Given the description of an element on the screen output the (x, y) to click on. 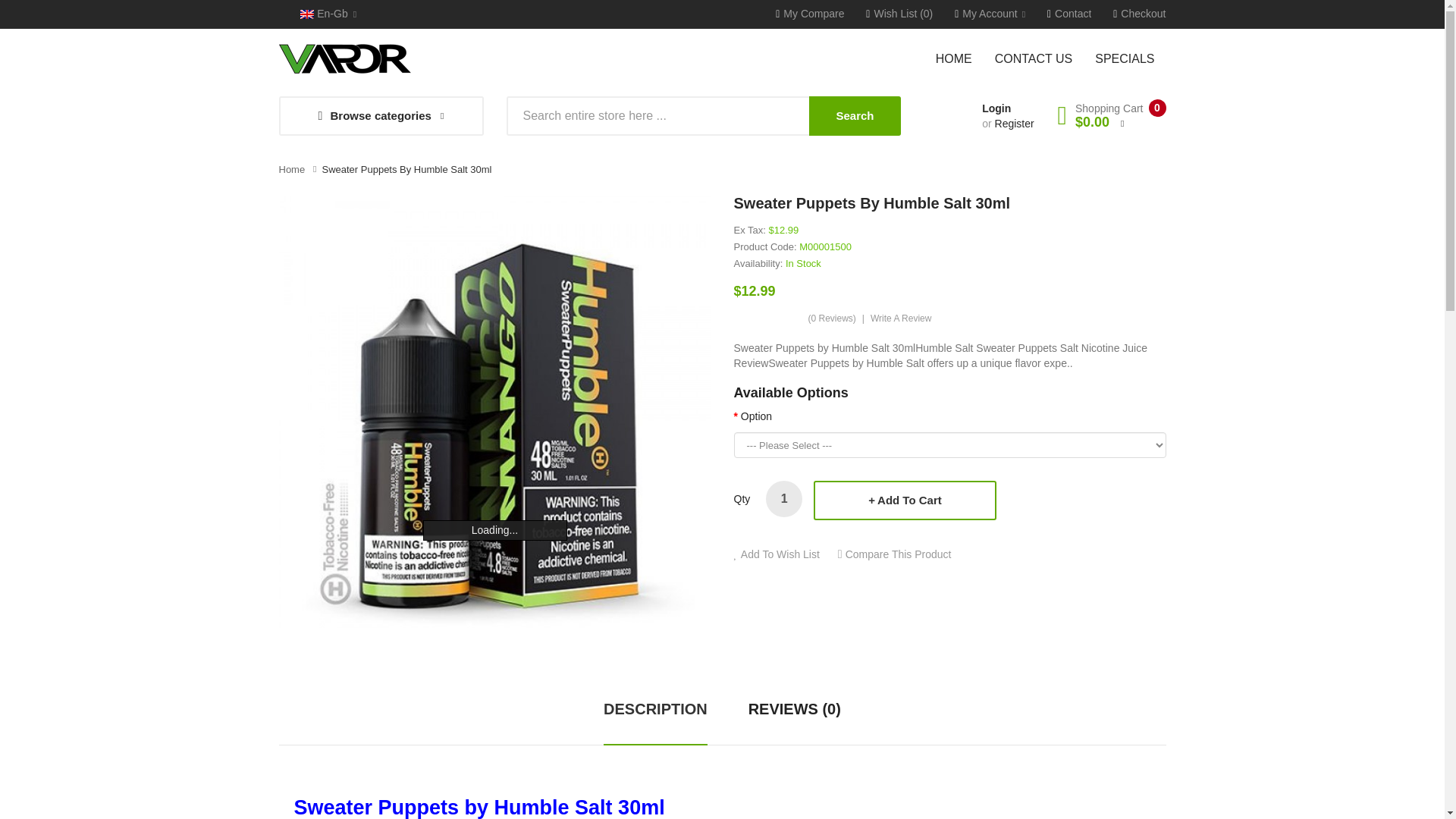
Sweater Puppets By Humble Salt 30ml (406, 169)
Search (854, 115)
HOME (960, 57)
My Account (990, 14)
Write A Review (900, 318)
Add to Cart (904, 500)
Login (995, 108)
CONTACT US (1034, 57)
Register (1013, 123)
Contact (1068, 13)
vaporsee (344, 58)
Checkout (1139, 13)
En-Gb (327, 14)
Compare This Product (895, 553)
